Given the description of an element on the screen output the (x, y) to click on. 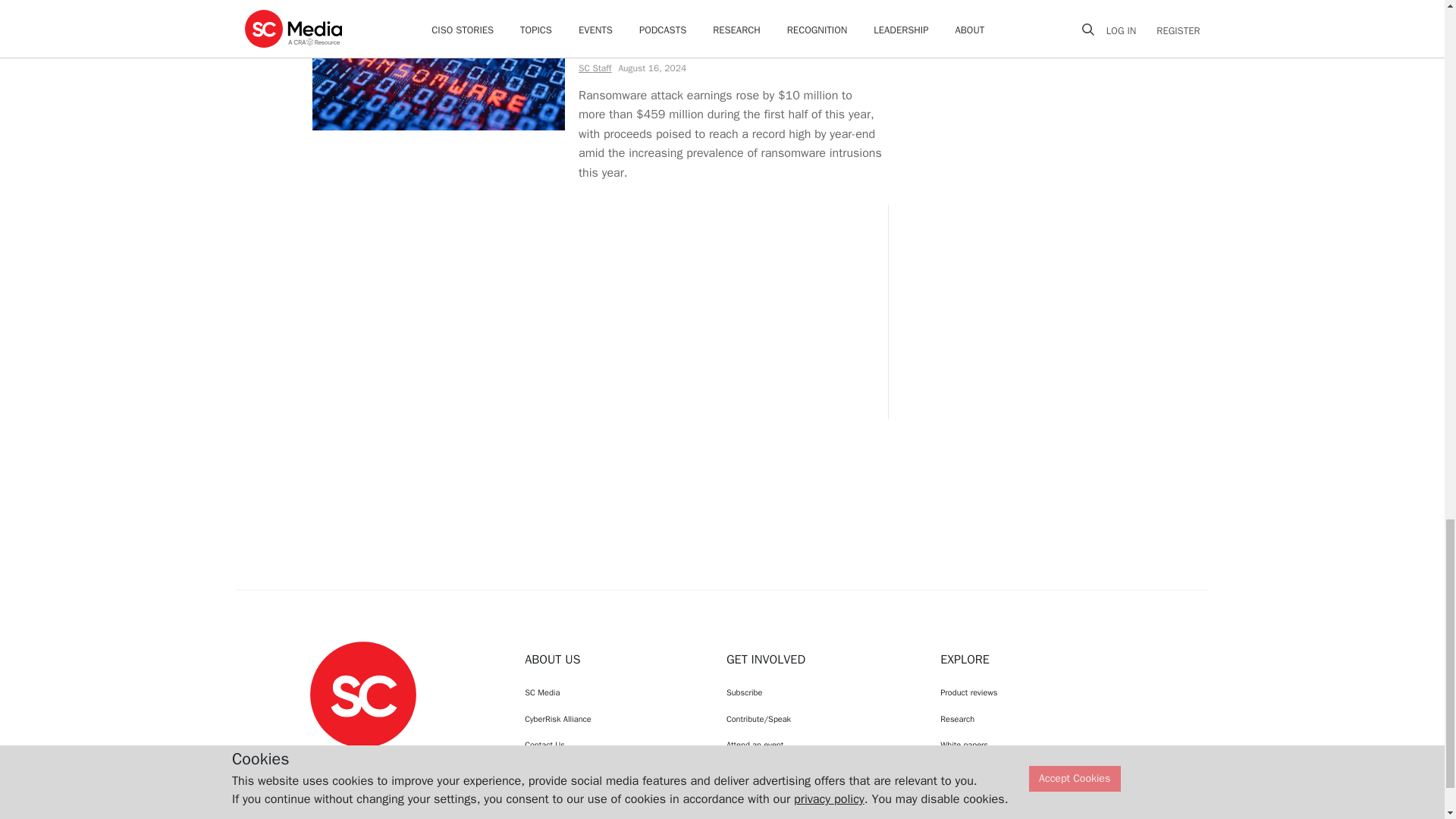
SCMagazine on Facebook (324, 761)
SCMagazine on Twitter (362, 761)
Ransomware attack proceeds, crypto theft rise in first half (729, 35)
RANSOMWARE (617, 1)
SC Media (362, 693)
SC Staff (594, 69)
SCMagazine on LinkedIn (401, 761)
